Given the description of an element on the screen output the (x, y) to click on. 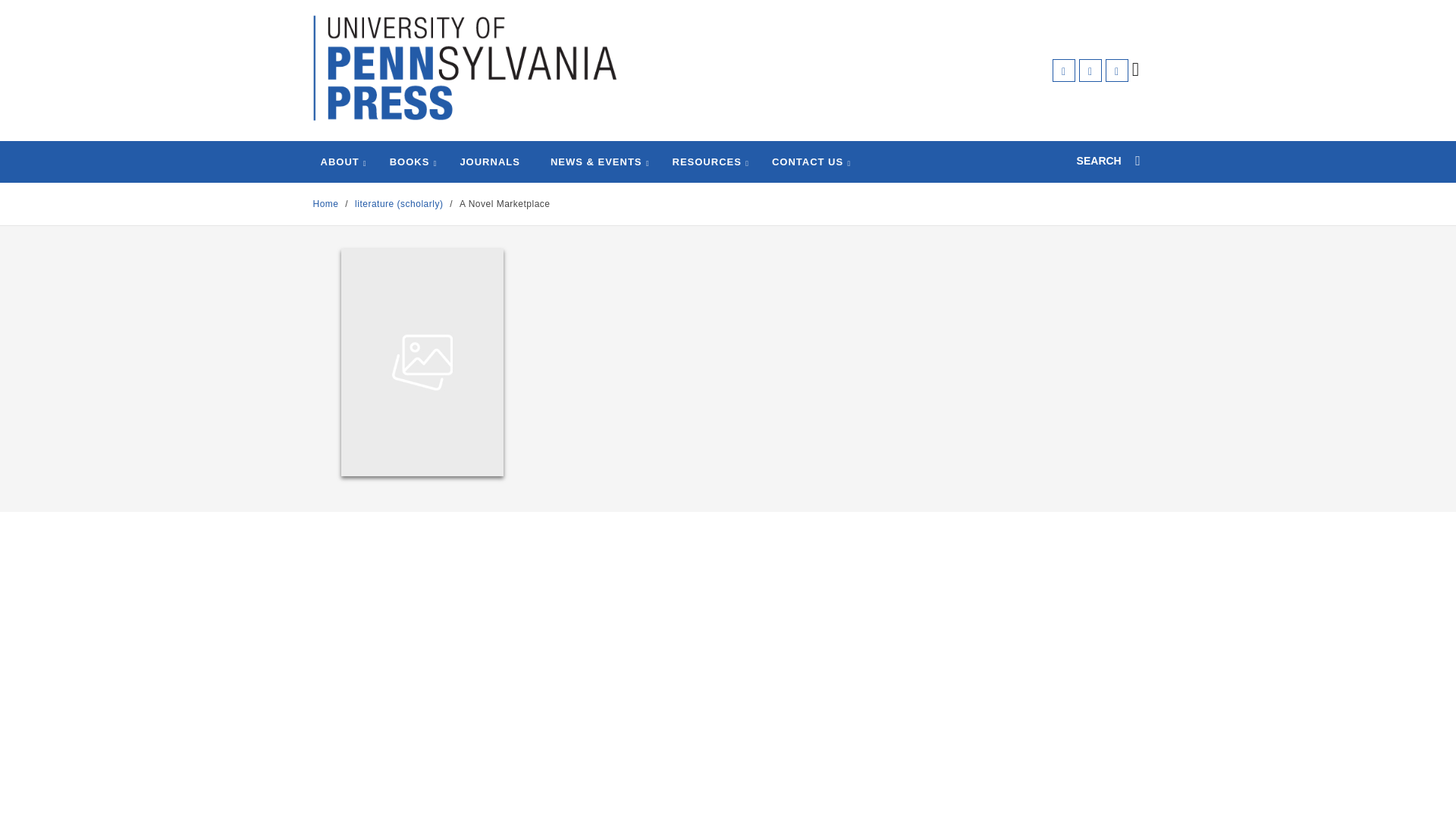
Follow us on Instagram (1116, 69)
JOURNALS (489, 161)
RESOURCES (706, 161)
Back to homepage (325, 204)
Follow us on Facebook (1063, 69)
ABOUT (339, 161)
BOOKS (409, 161)
